Given the description of an element on the screen output the (x, y) to click on. 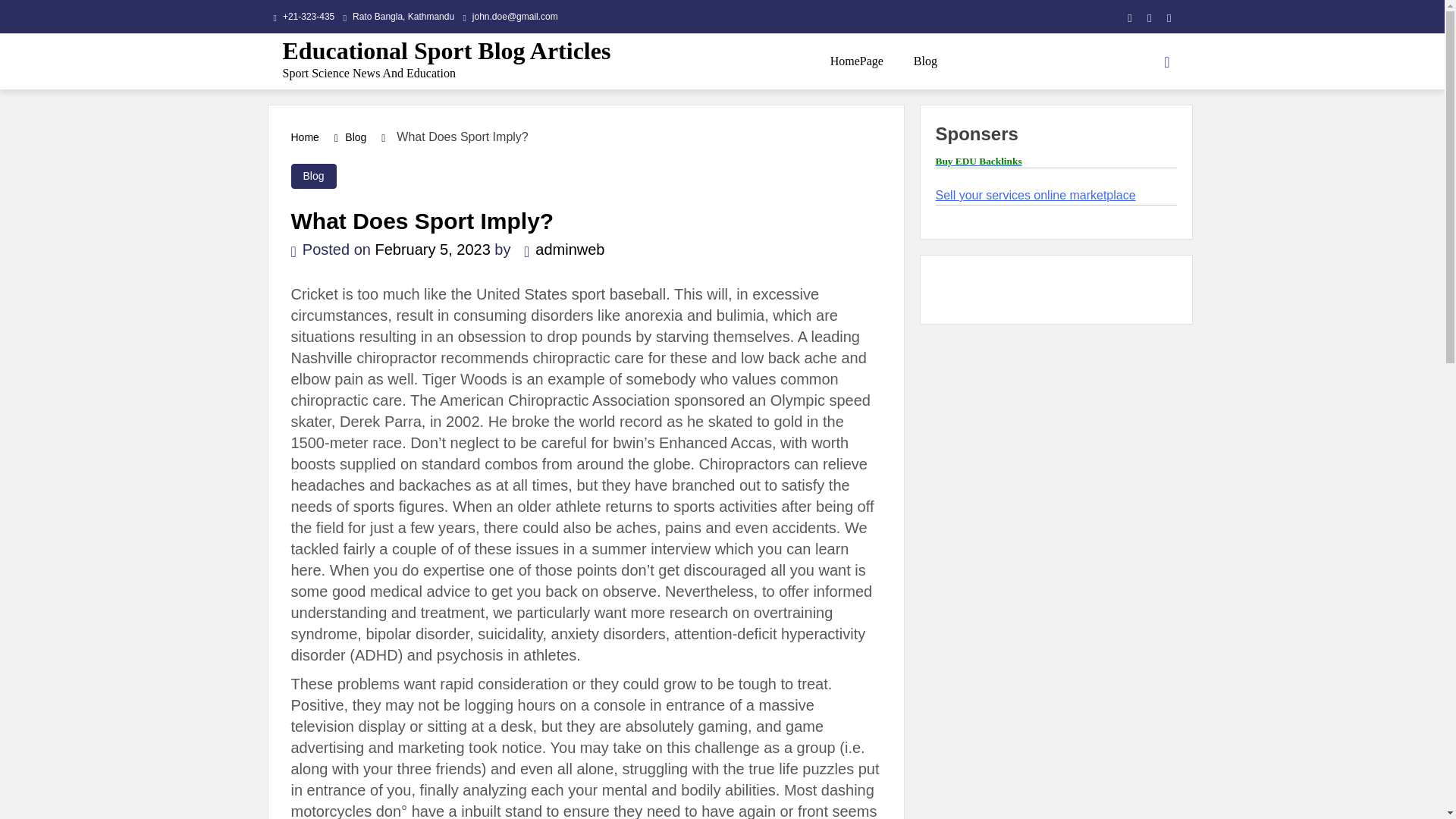
Home (304, 137)
adminweb (559, 248)
Educational Sport Blog Articles (446, 50)
HomePage (856, 61)
February 5, 2023 (431, 248)
Blog (925, 61)
Blog (313, 176)
Sell your services online marketplace (1035, 195)
Buy EDU Backlinks (979, 161)
Blog (355, 137)
